Given the description of an element on the screen output the (x, y) to click on. 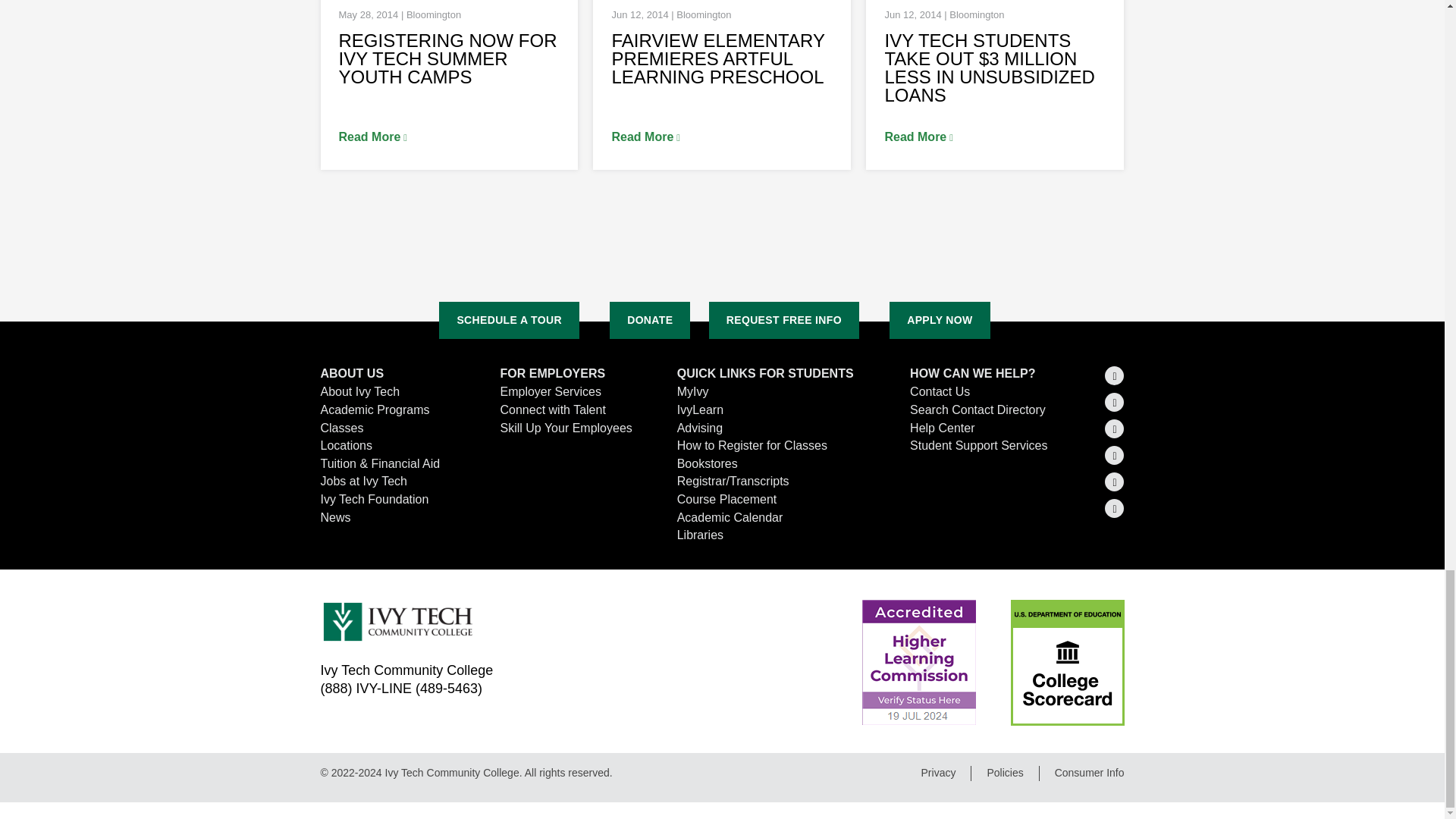
LinkedIn (1114, 402)
Instagram (1114, 455)
Glassdoor (1114, 507)
Facebook (1114, 428)
YouTube (1114, 481)
Twitter (1114, 375)
